Given the description of an element on the screen output the (x, y) to click on. 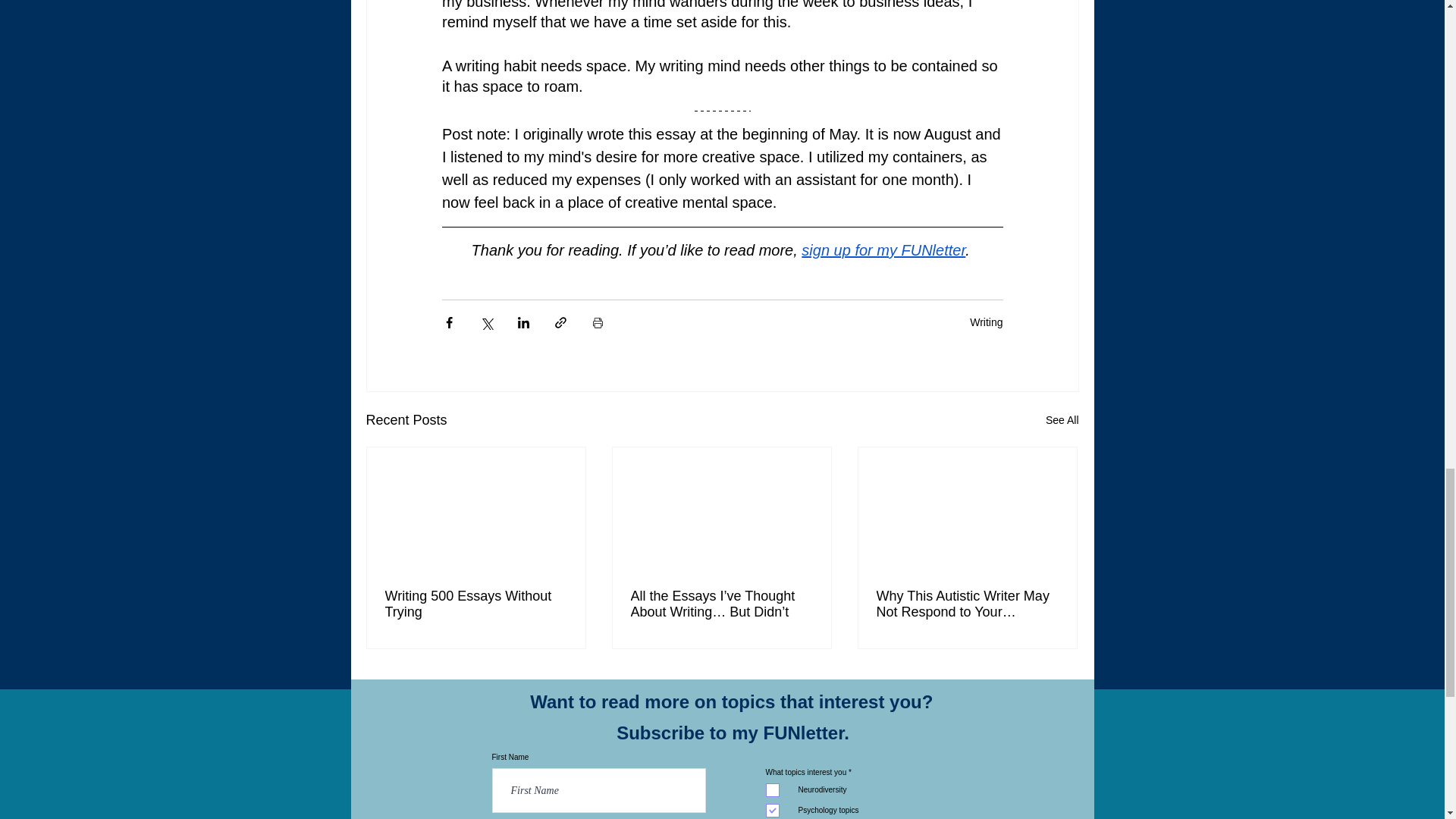
Writing 500 Essays Without Trying (476, 603)
See All (1061, 420)
Why This Autistic Writer May Not Respond to Your Comment (967, 603)
sign up for my FUNletter (883, 249)
Writing (986, 322)
